Given the description of an element on the screen output the (x, y) to click on. 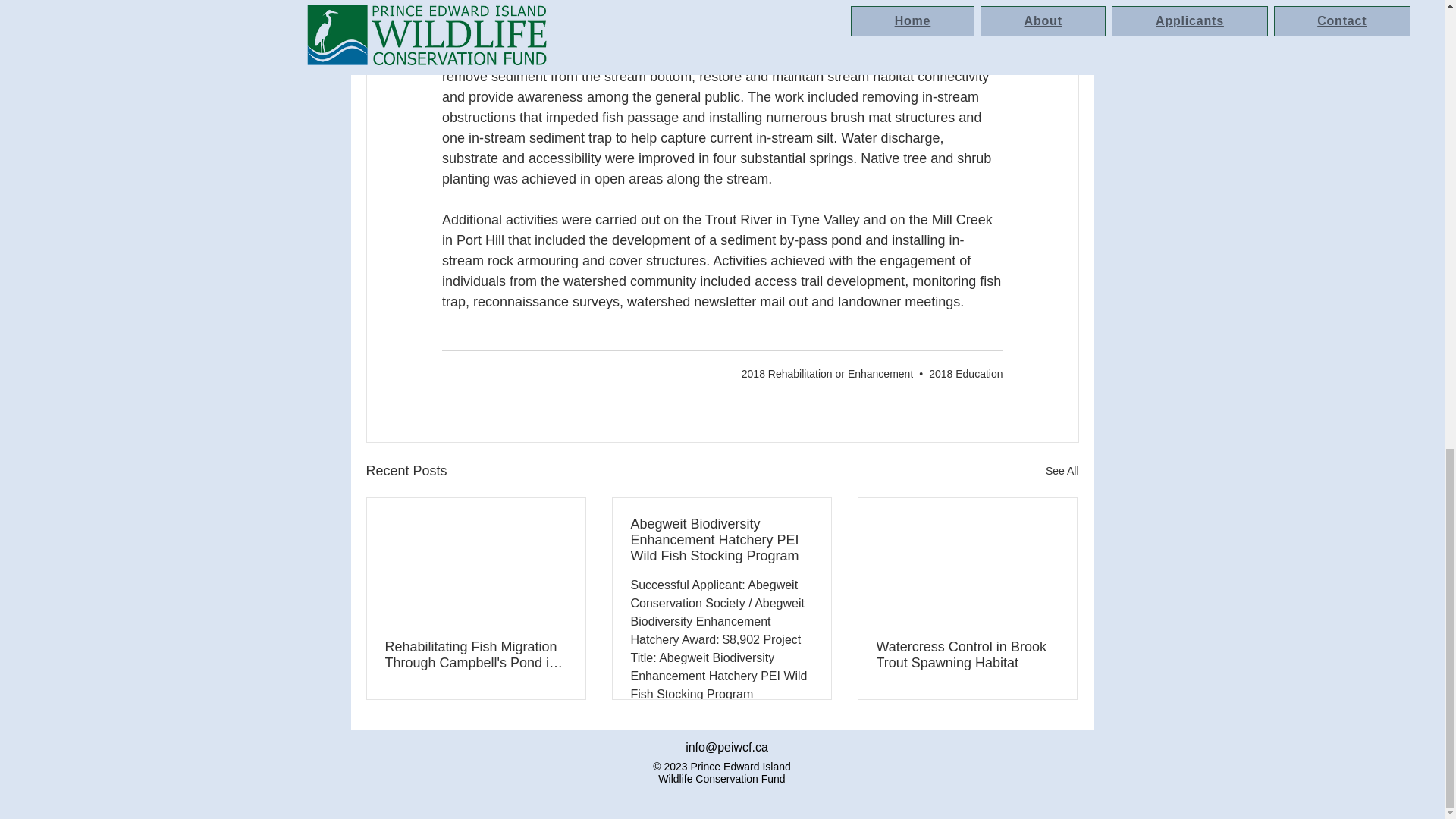
Watercress Control in Brook Trout Spawning Habitat (967, 654)
2018 Rehabilitation or Enhancement (827, 372)
2018 Education (965, 372)
See All (1061, 471)
